Given the description of an element on the screen output the (x, y) to click on. 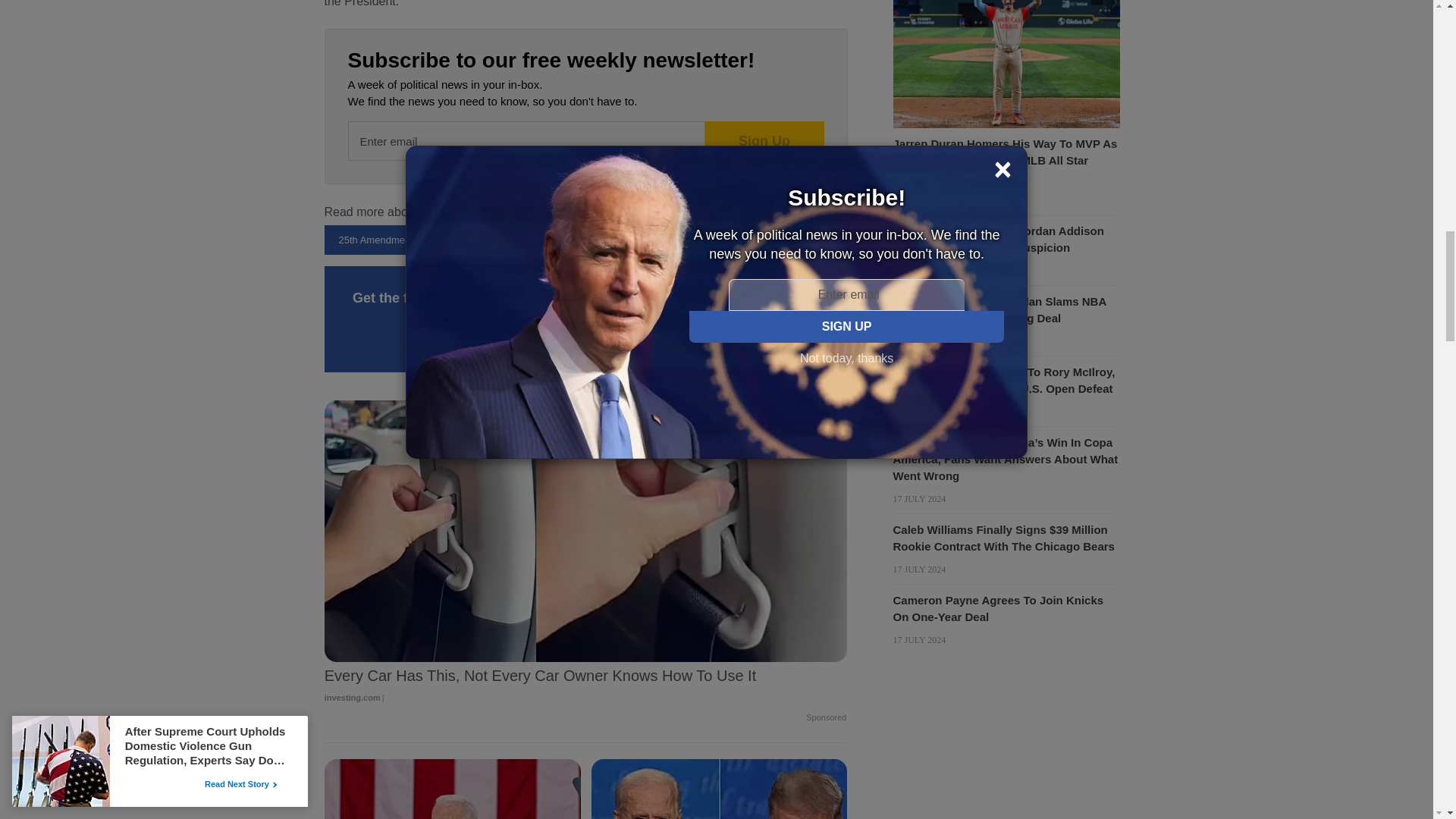
Every Car Has This, Not Every Car Owner Knows How To Use It (585, 686)
Enter email (525, 140)
Sign Up (764, 140)
